Given the description of an element on the screen output the (x, y) to click on. 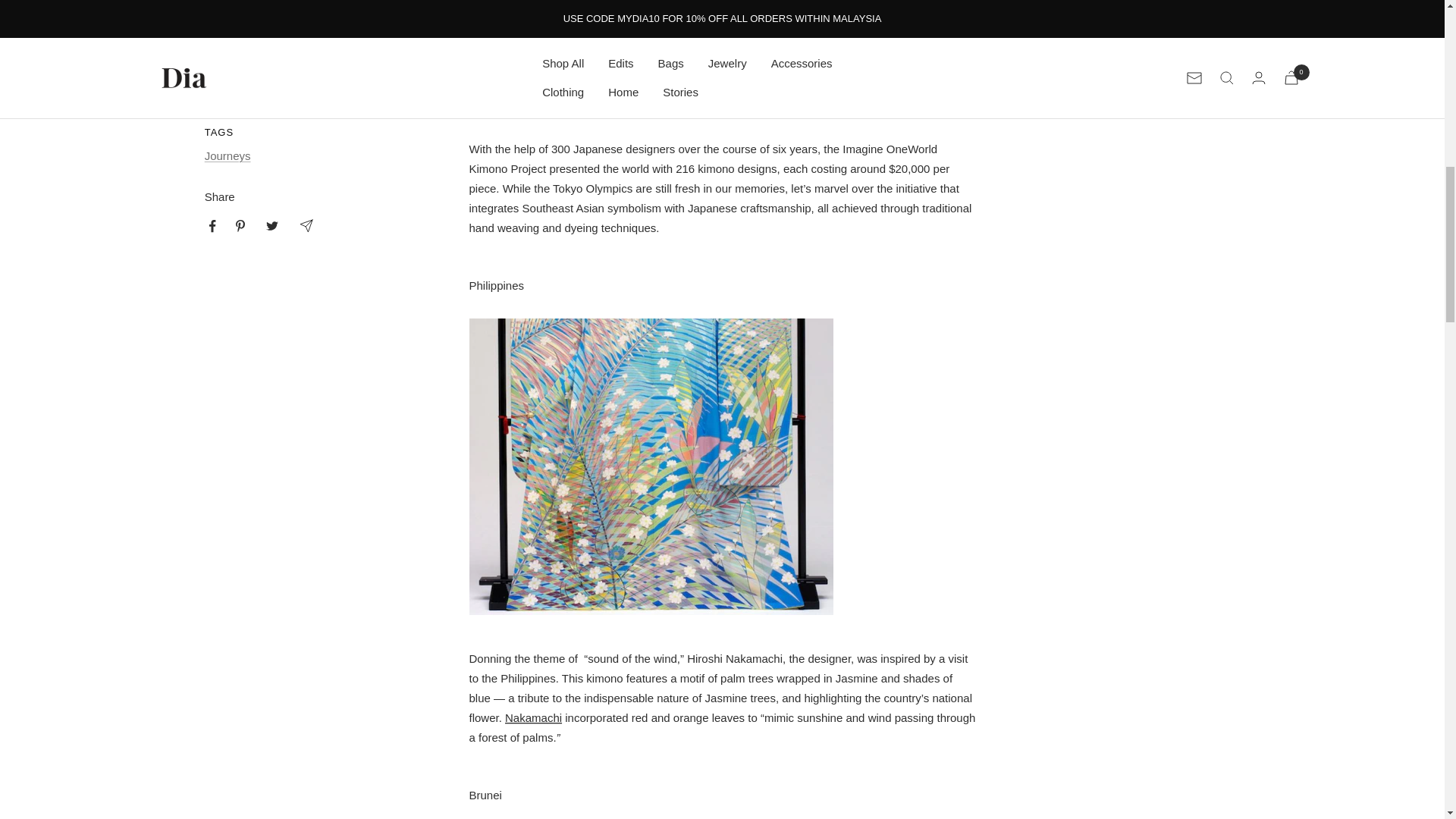
Journeys (227, 155)
Nakamachi (533, 717)
